Given the description of an element on the screen output the (x, y) to click on. 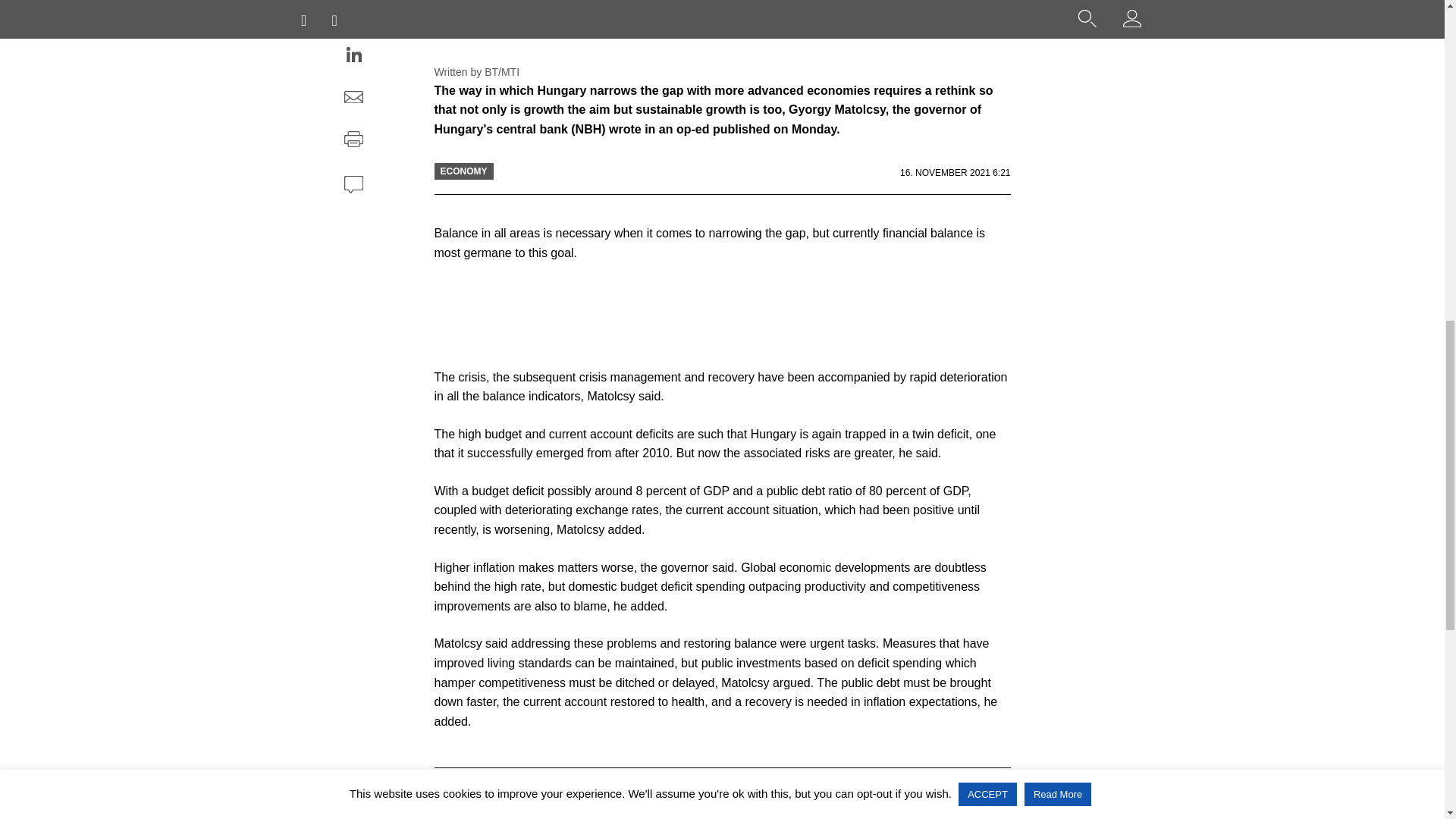
Email (352, 99)
Twitter (352, 14)
Print (352, 141)
LinkedIn (352, 56)
